Given the description of an element on the screen output the (x, y) to click on. 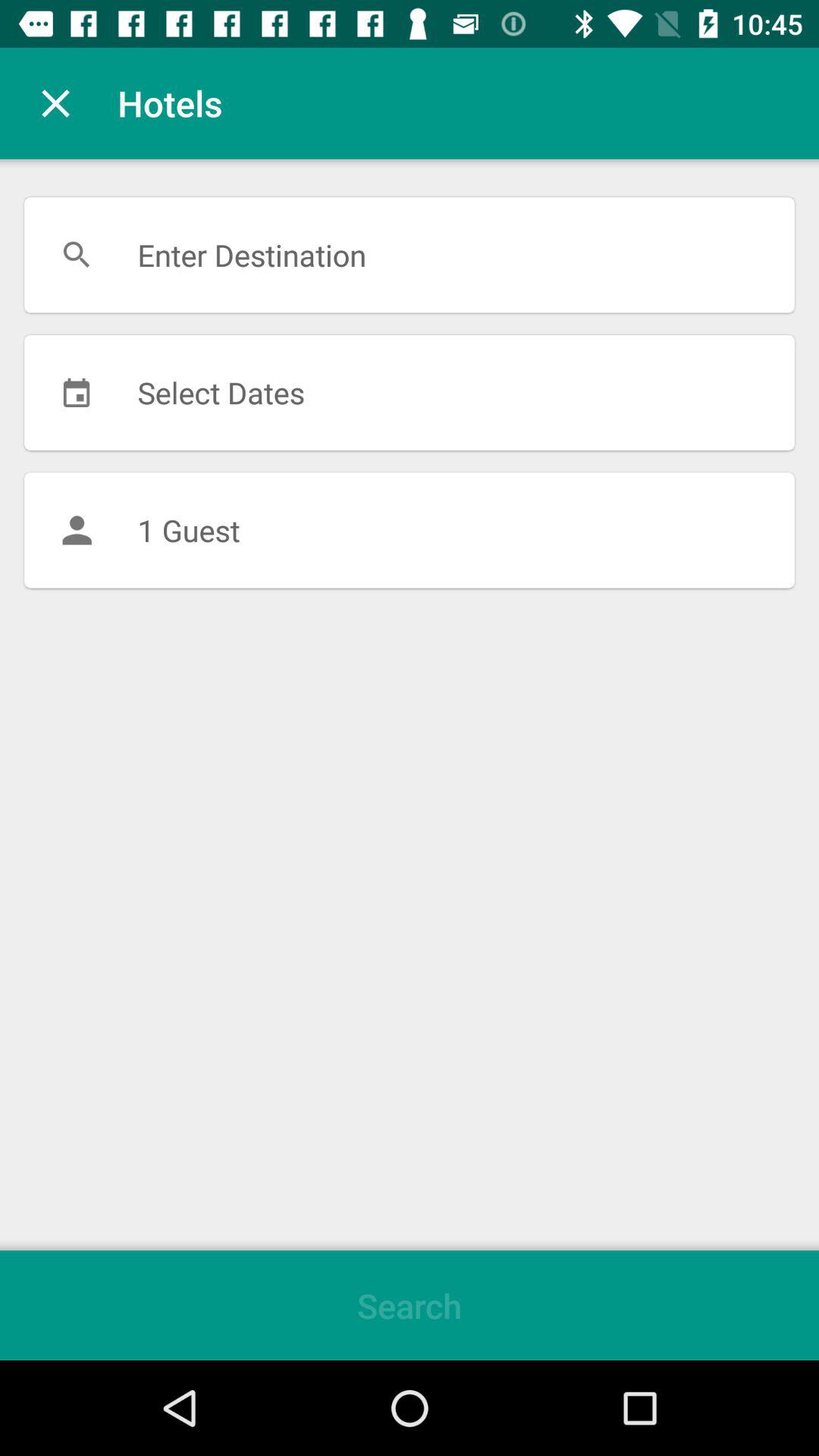
scroll to 1 guest (409, 530)
